Given the description of an element on the screen output the (x, y) to click on. 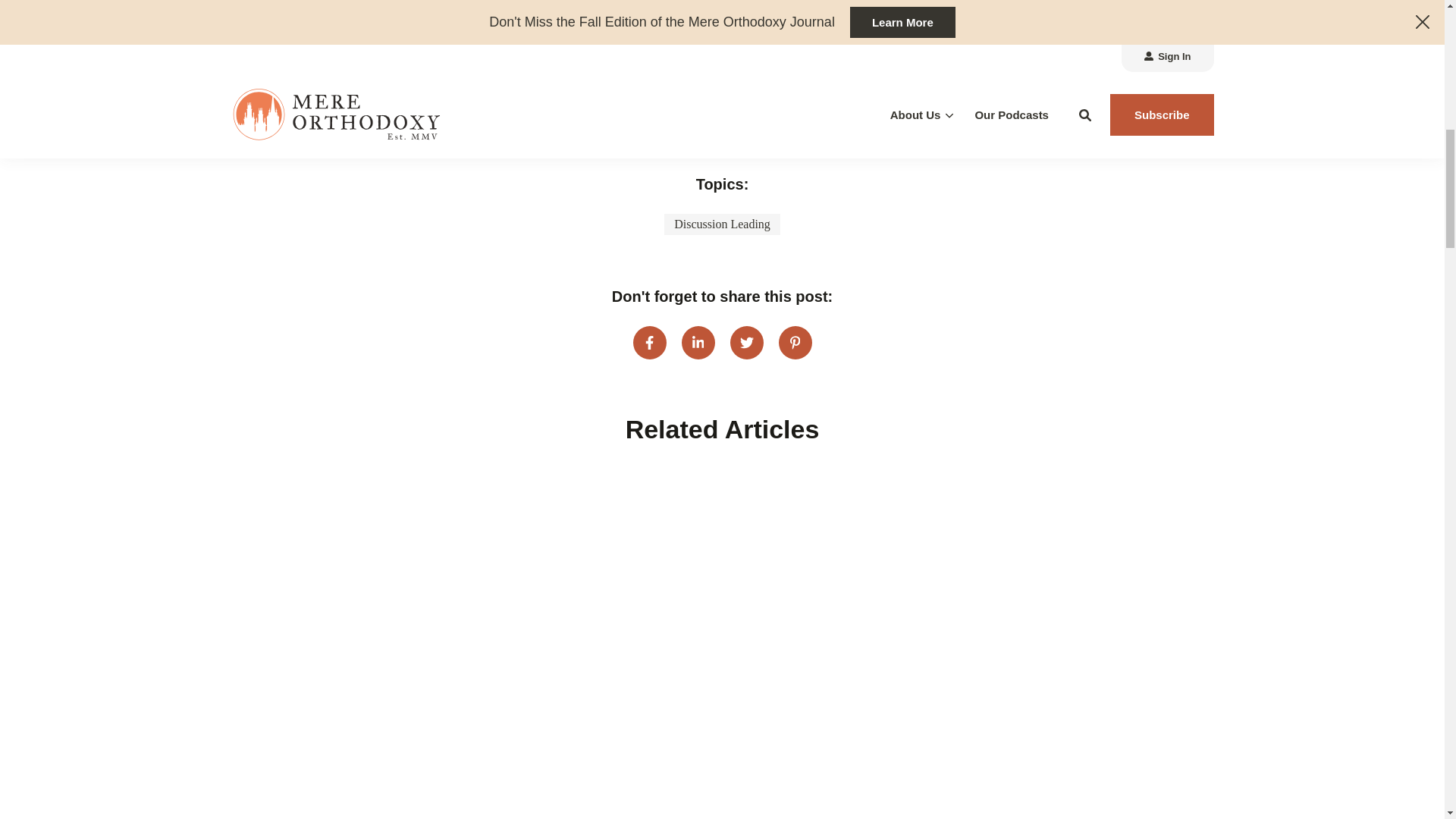
Discussion Leading (721, 224)
Share on Facebook (648, 342)
Share on Twitter (745, 342)
Share on Linkedin (697, 342)
Share on Pinterest (793, 342)
Matthew Lee Anderson (498, 40)
Discussion Leading (721, 224)
